Given the description of an element on the screen output the (x, y) to click on. 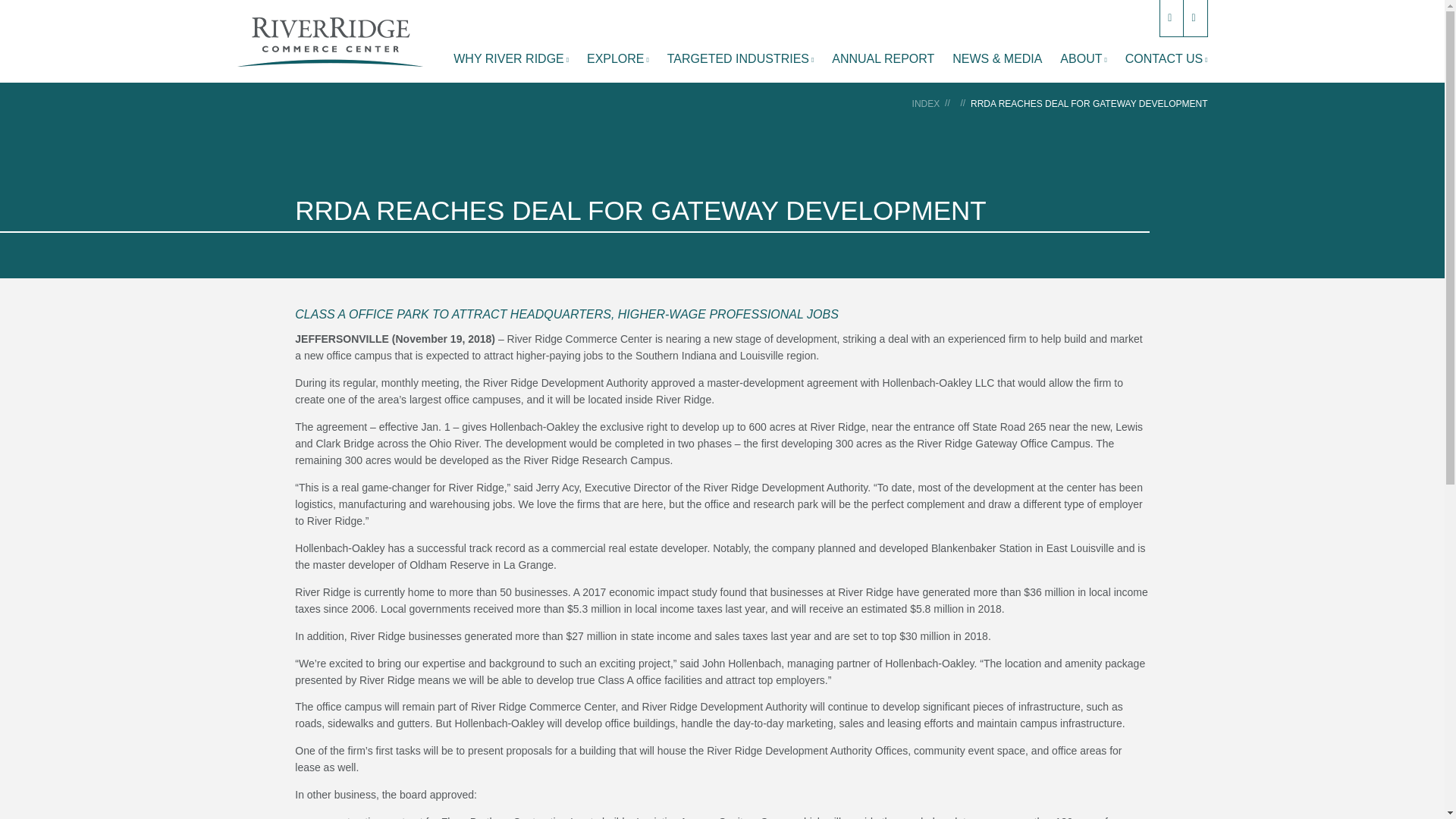
River Ridge (328, 41)
